Given the description of an element on the screen output the (x, y) to click on. 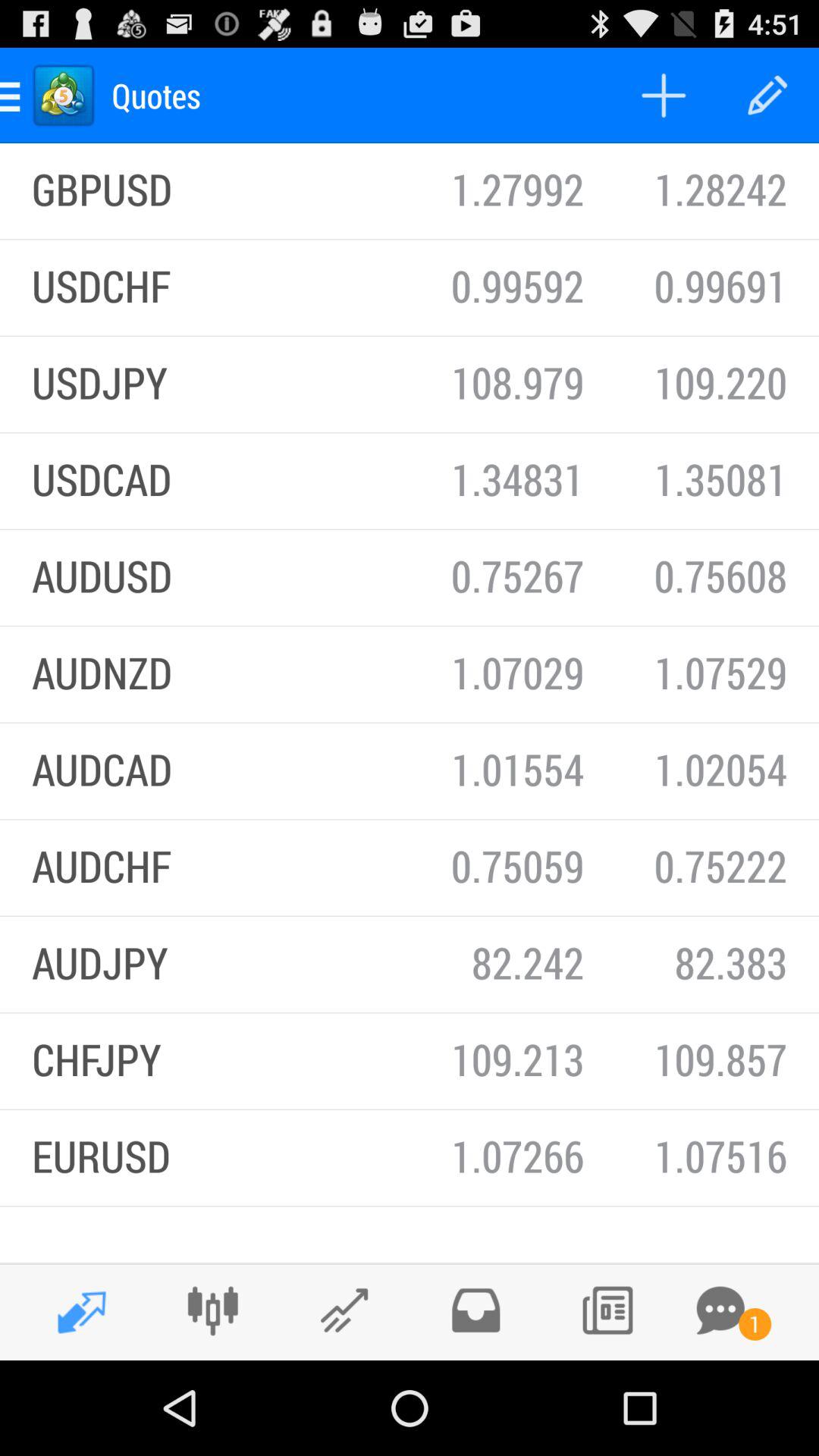
connections (212, 1310)
